Given the description of an element on the screen output the (x, y) to click on. 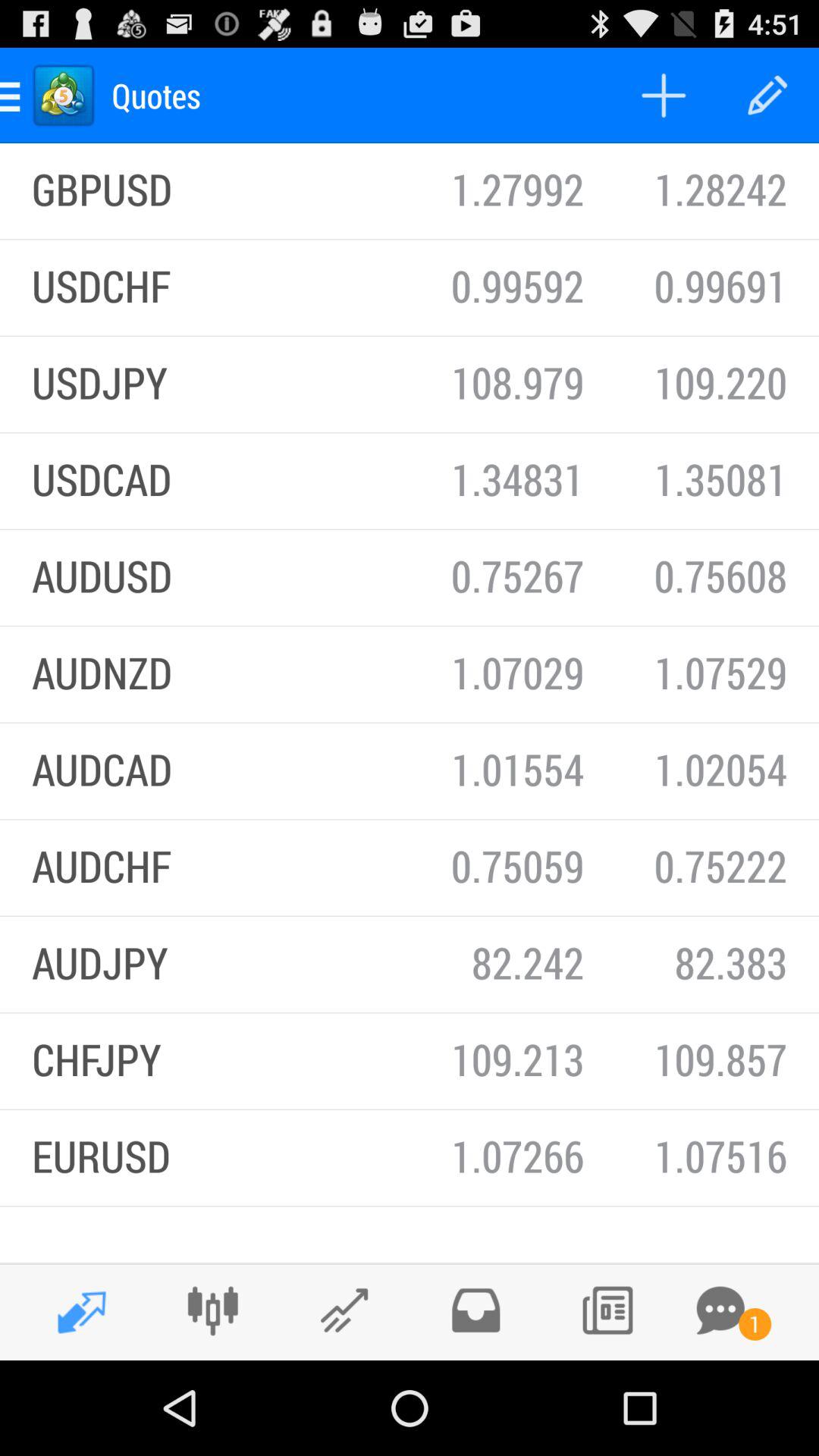
connections (212, 1310)
